Given the description of an element on the screen output the (x, y) to click on. 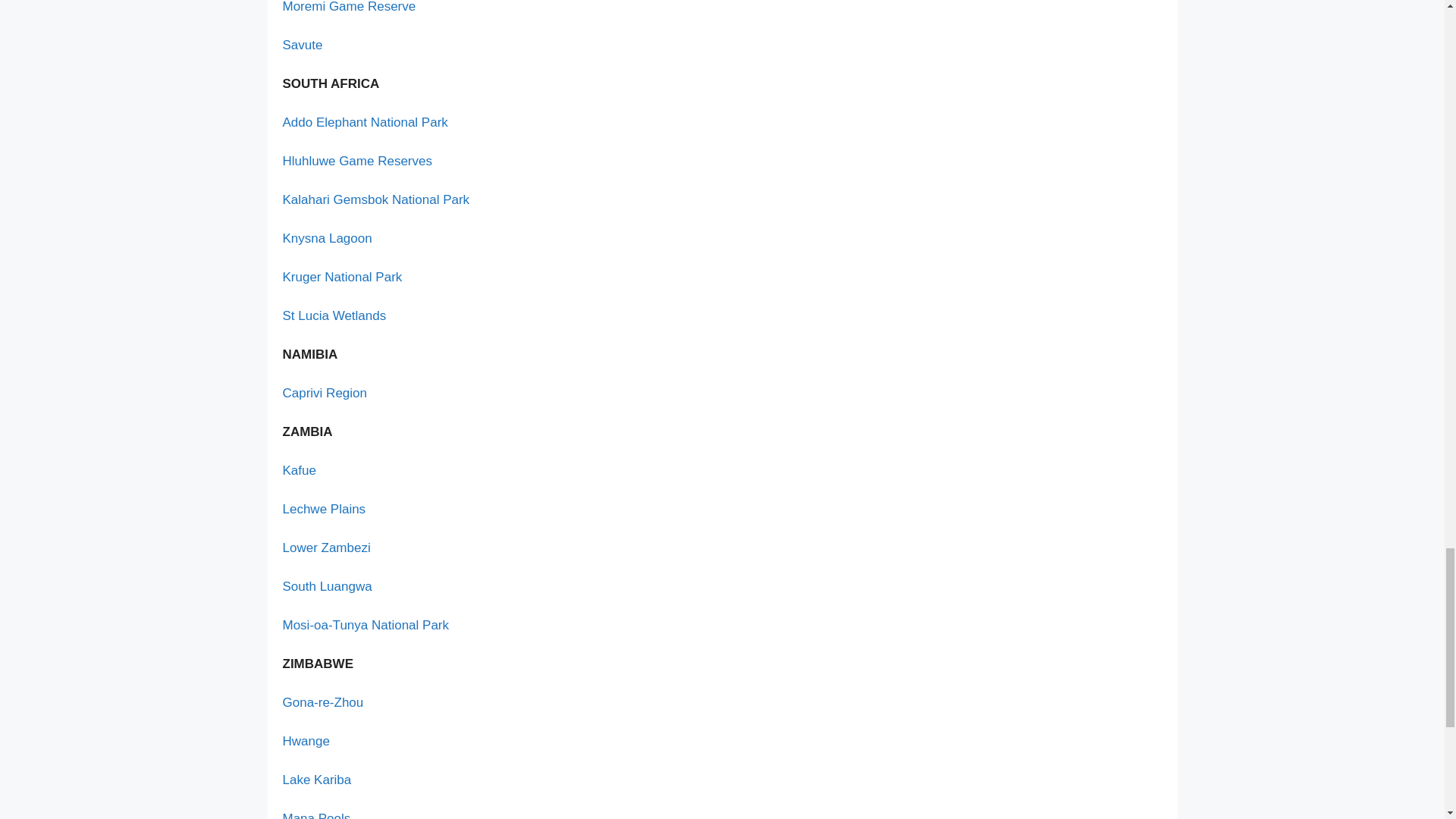
Kalahari Gemsbok National Park (375, 199)
Addo Elephant National Park (364, 122)
Hluhluwe Game Reserves (356, 160)
Lechwe Plains (323, 509)
Moremi Game Reserve (348, 6)
Knysna Lagoon (326, 237)
Kafue (298, 470)
Savute (301, 44)
Kruger National Park (341, 277)
Caprivi Region (324, 392)
St Lucia Wetlands (333, 315)
